Given the description of an element on the screen output the (x, y) to click on. 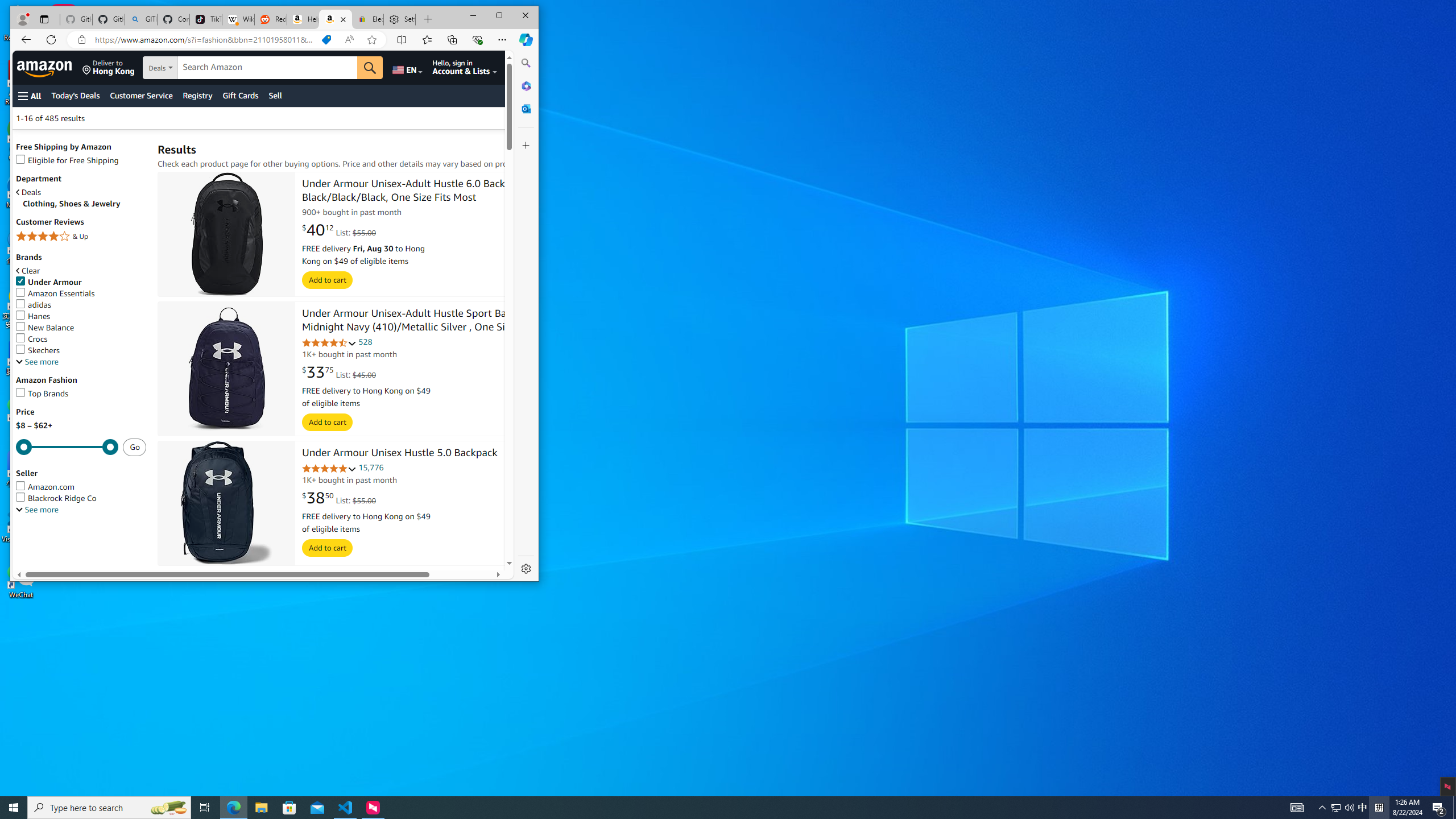
Maximum (67, 446)
Eligible for Free Shipping (67, 160)
Deals (29, 192)
Crocs (32, 338)
Amazon (45, 67)
Maximize (499, 15)
Deals (80, 192)
Deliver to Hong Kong (108, 67)
Search in (199, 68)
Show desktop (1454, 807)
4.8 out of 5 stars (328, 468)
Wikipedia, the free encyclopedia (237, 19)
File Explorer (261, 807)
